Given the description of an element on the screen output the (x, y) to click on. 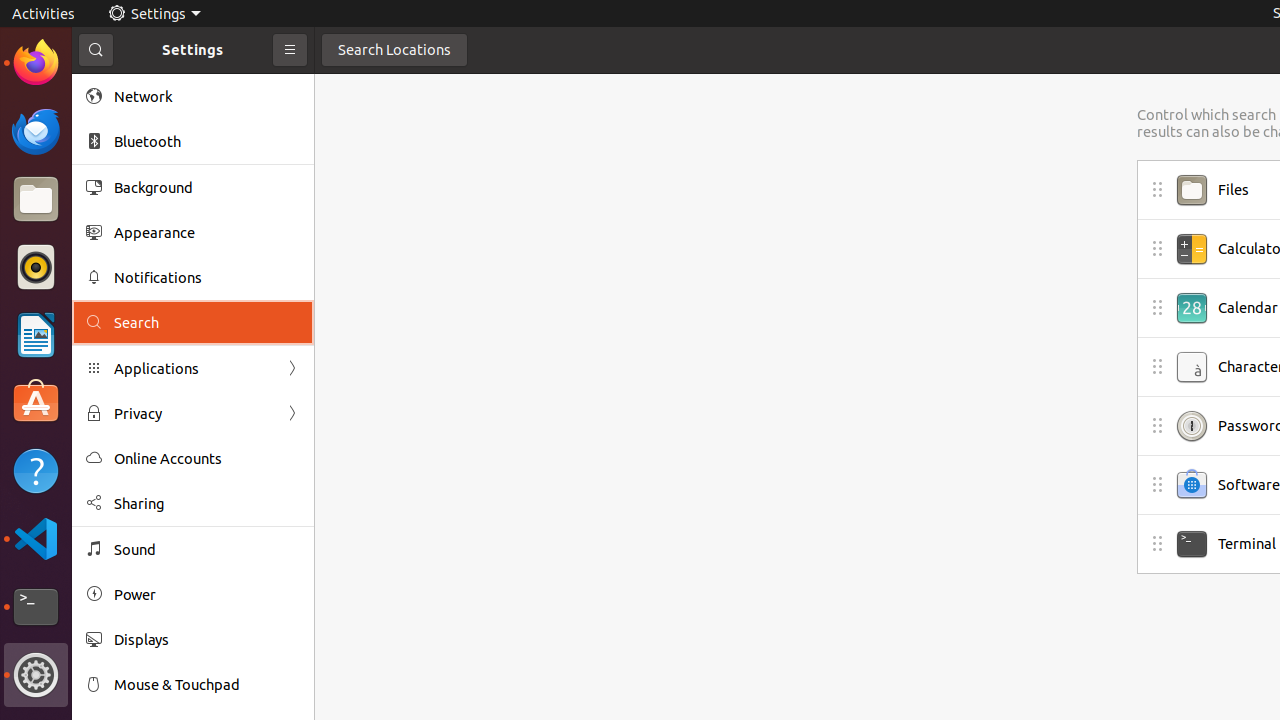
Settings Element type: menu (154, 13)
Forward Element type: icon (292, 413)
Settings Element type: push-button (36, 675)
